Given the description of an element on the screen output the (x, y) to click on. 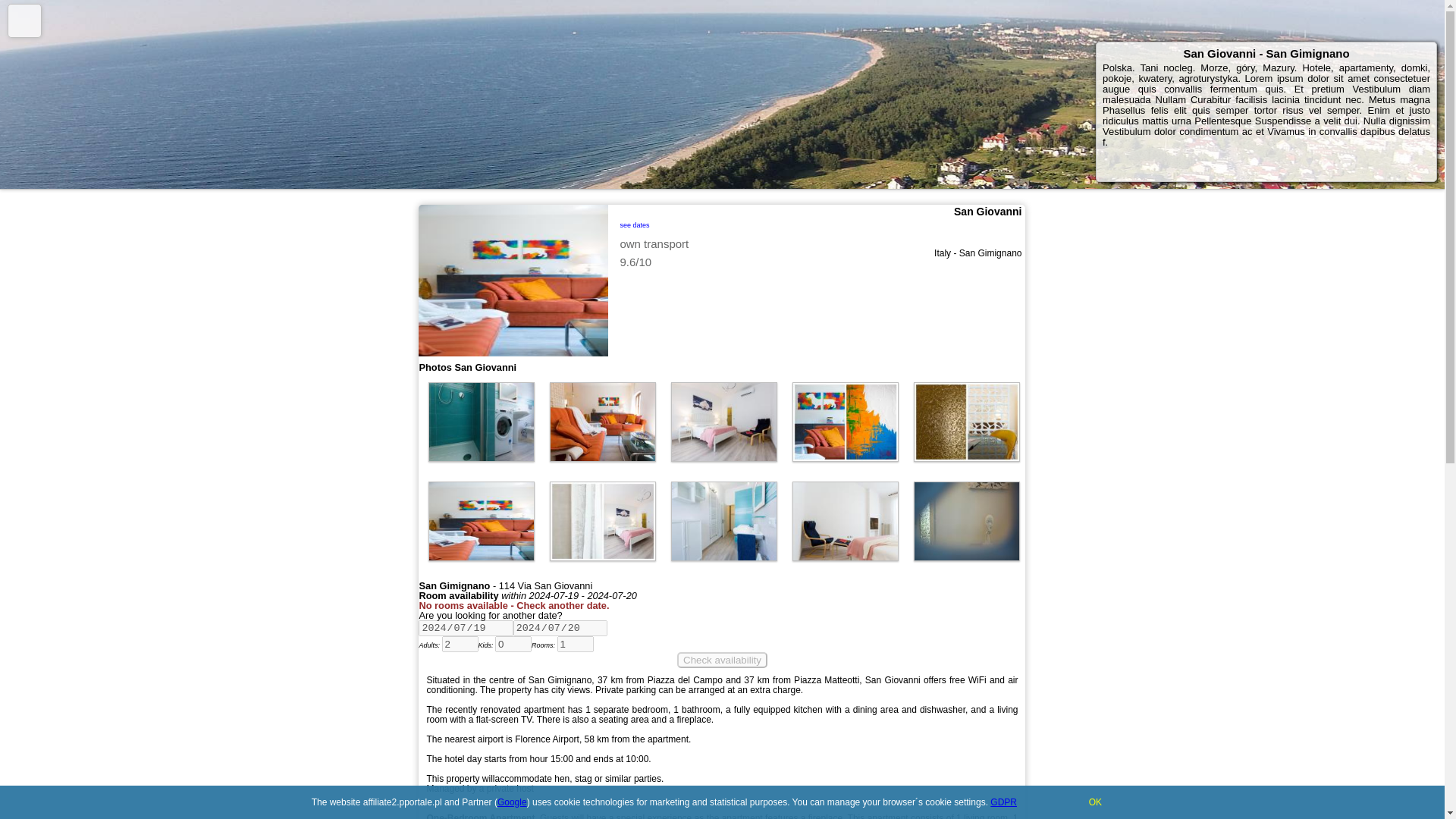
Urlop Holidays San Giovanni Italy (724, 421)
Top San Gimignano (602, 422)
Urlop Holidays San Giovanni Italy (481, 521)
Top San Gimignano (481, 521)
home page (24, 20)
Urlop Holidays San Giovanni Italy (481, 421)
0 (513, 643)
1 (575, 643)
Top San Gimignano (723, 422)
Google (512, 801)
Urlop Holidays San Giovanni Italy (603, 521)
see dates (634, 223)
Urlop Holidays San Giovanni Italy (603, 421)
Top San Gimignano (481, 422)
see dates (758, 224)
